Given the description of an element on the screen output the (x, y) to click on. 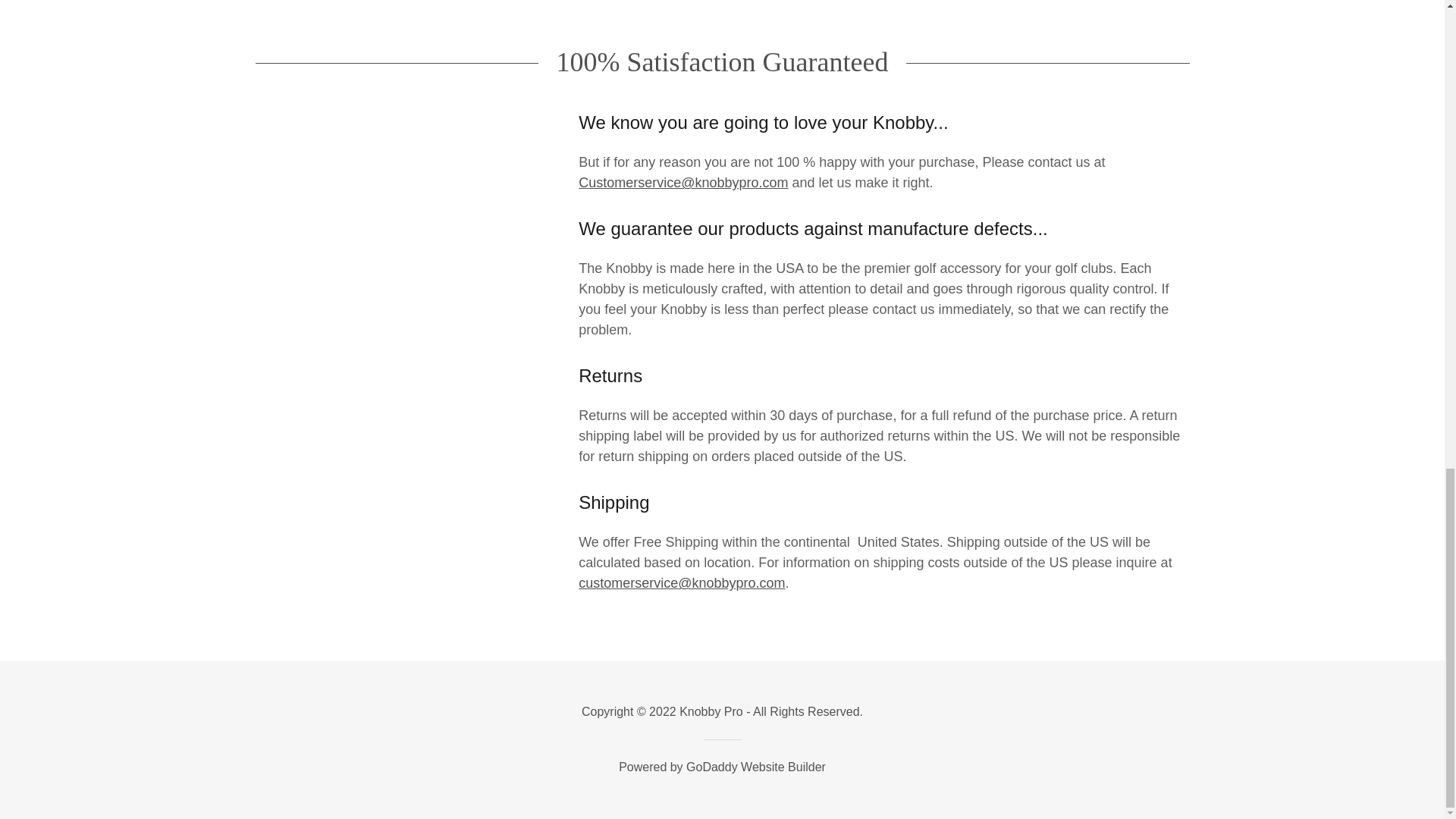
GoDaddy (711, 766)
